Given the description of an element on the screen output the (x, y) to click on. 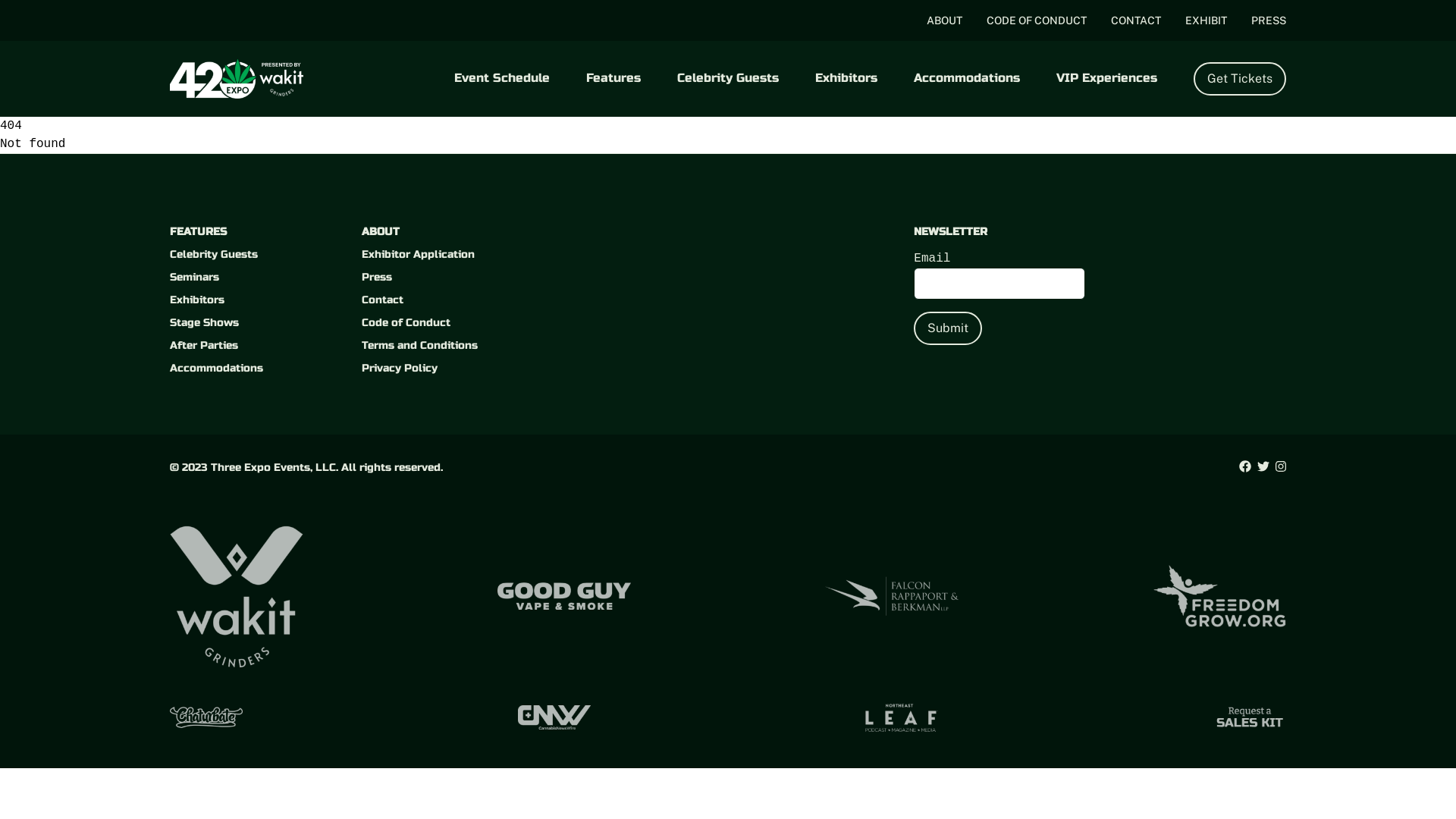
Stage Shows Element type: text (203, 322)
Submit Element type: text (947, 328)
VIP Experiences Element type: text (1106, 77)
Accommodations Element type: text (966, 77)
After Parties Element type: text (203, 344)
Event Schedule Element type: text (501, 77)
ABOUT Element type: text (944, 20)
Accommodations Element type: text (216, 367)
Exhibitors Element type: text (846, 77)
Celebrity Guests Element type: text (213, 253)
Exhibitors Element type: text (196, 299)
Celebrity Guests Element type: text (727, 77)
Get Tickets Element type: text (1239, 78)
Privacy Policy Element type: text (399, 367)
Code of Conduct Element type: text (405, 322)
Exhibitor Application Element type: text (417, 253)
PRESS Element type: text (1268, 20)
CONTACT Element type: text (1135, 20)
Terms and Conditions Element type: text (419, 344)
Contact Element type: text (382, 299)
Press Element type: text (376, 276)
CODE OF CONDUCT Element type: text (1036, 20)
Seminars Element type: text (194, 276)
Features Element type: text (613, 77)
EXHIBIT Element type: text (1205, 20)
